Given the description of an element on the screen output the (x, y) to click on. 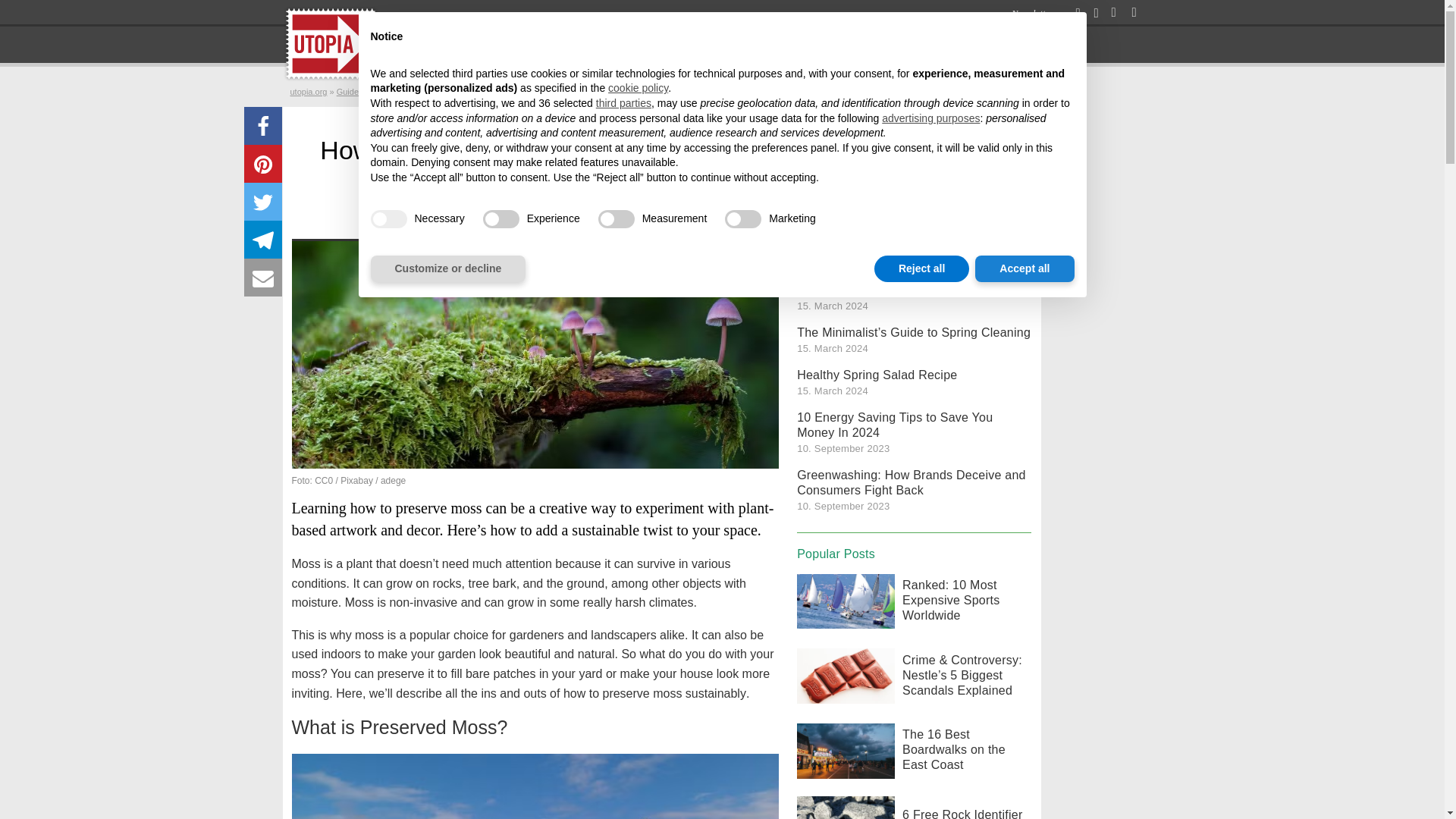
Share on Facebook (263, 125)
Utopia - Home (329, 43)
Share on Telegram (263, 239)
Posts by Aisha Williams (433, 222)
Aisha Williams (433, 222)
HOUSEHOLD (673, 44)
Garden (544, 222)
Tweet on Twitter (263, 201)
Share by Email (263, 277)
MORE (924, 44)
false (743, 218)
ABOUT US (985, 44)
true (387, 218)
BEAUTY (870, 44)
Pin on Pinterest (263, 163)
